Given the description of an element on the screen output the (x, y) to click on. 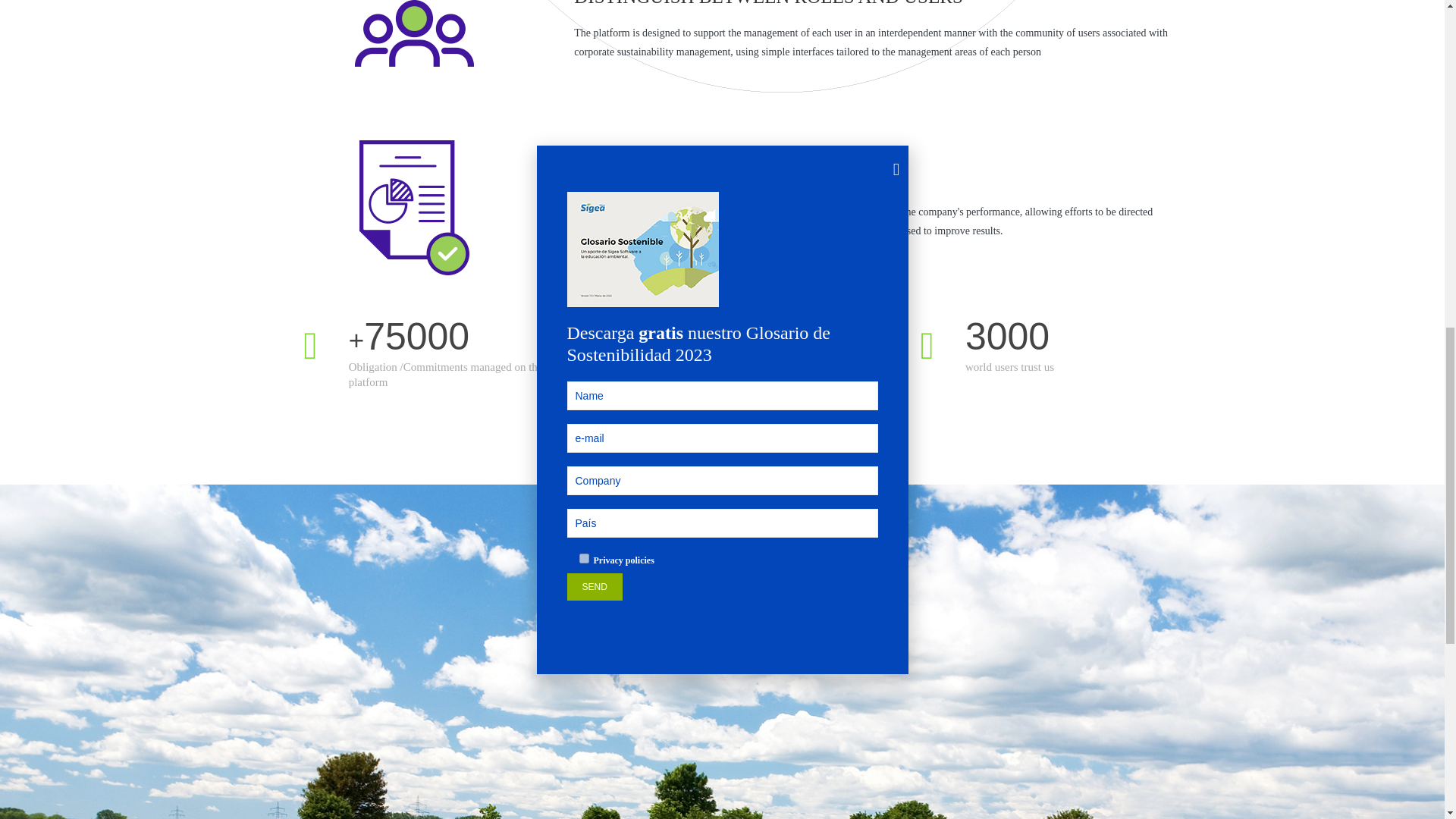
6-png-indicadores (413, 207)
4-roles-usuarios (413, 60)
